Given the description of an element on the screen output the (x, y) to click on. 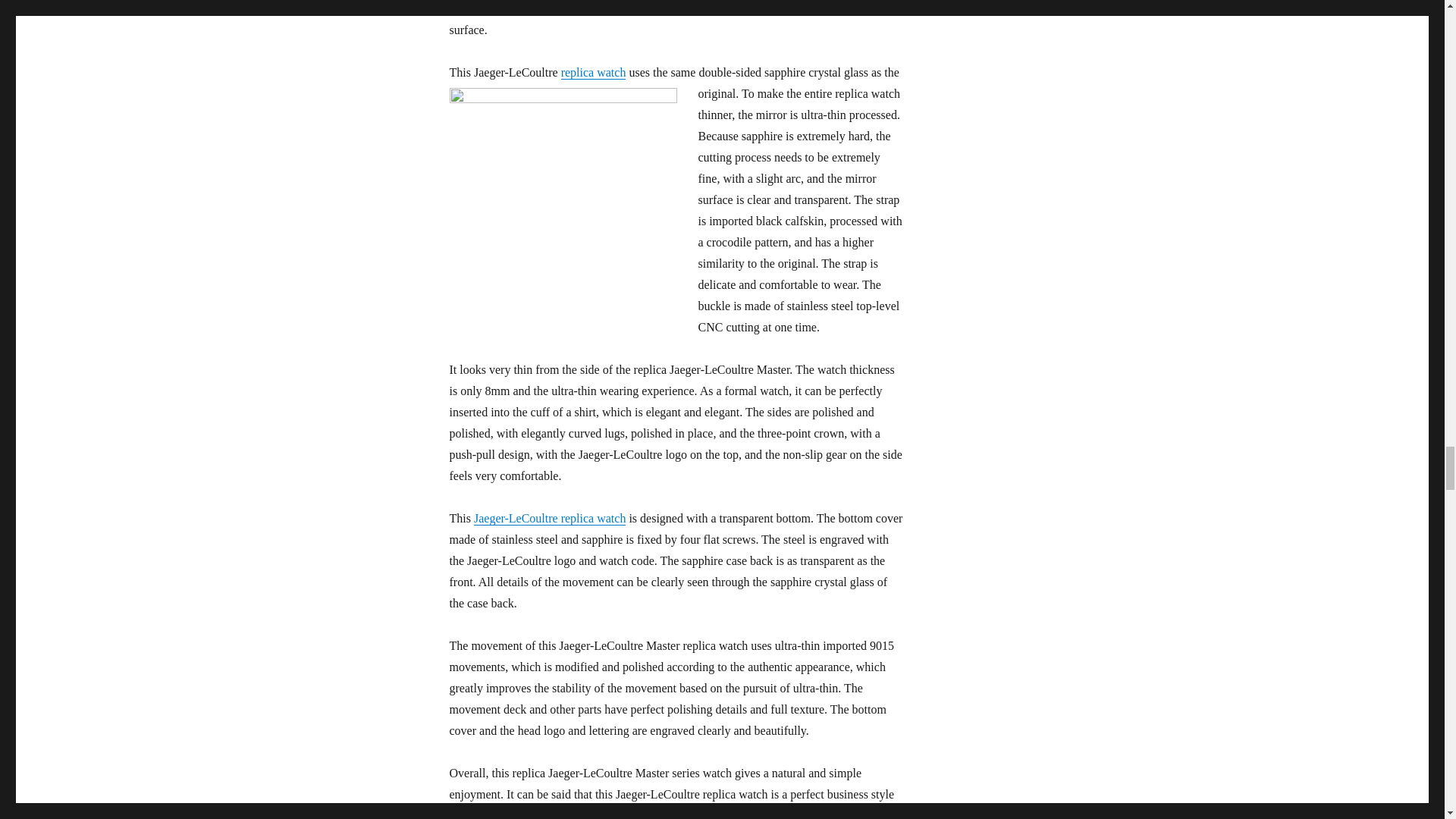
Jaeger-LeCoultre replica watch (550, 517)
replica watch (593, 72)
